Given the description of an element on the screen output the (x, y) to click on. 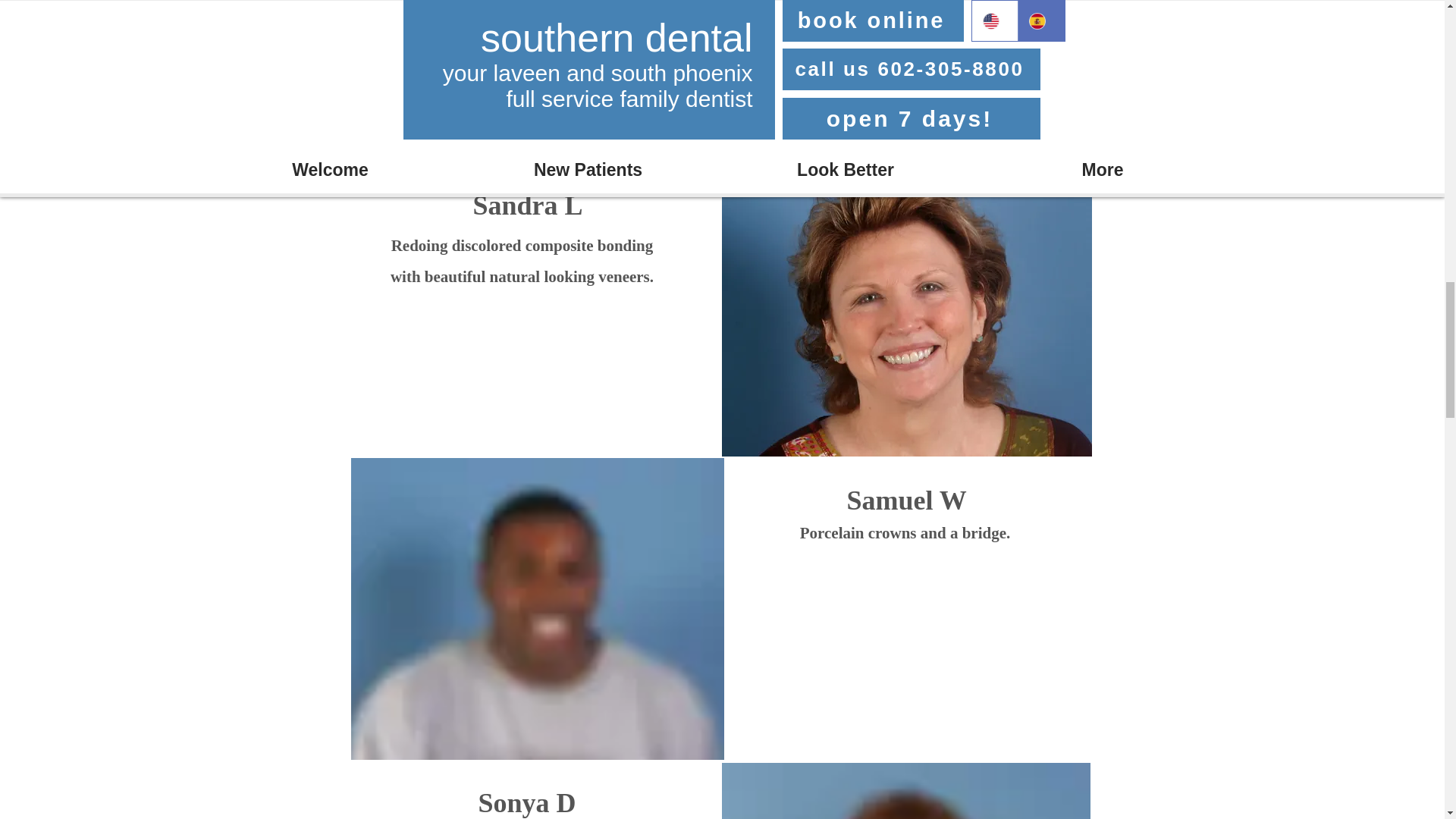
Invisalign Veneers 2.JPG (907, 307)
Invisalign Veneers 2.JPG (535, 77)
Invisalign Veneers 2.JPG (536, 608)
Invisalign Veneers 2.JPG (906, 790)
